Given the description of an element on the screen output the (x, y) to click on. 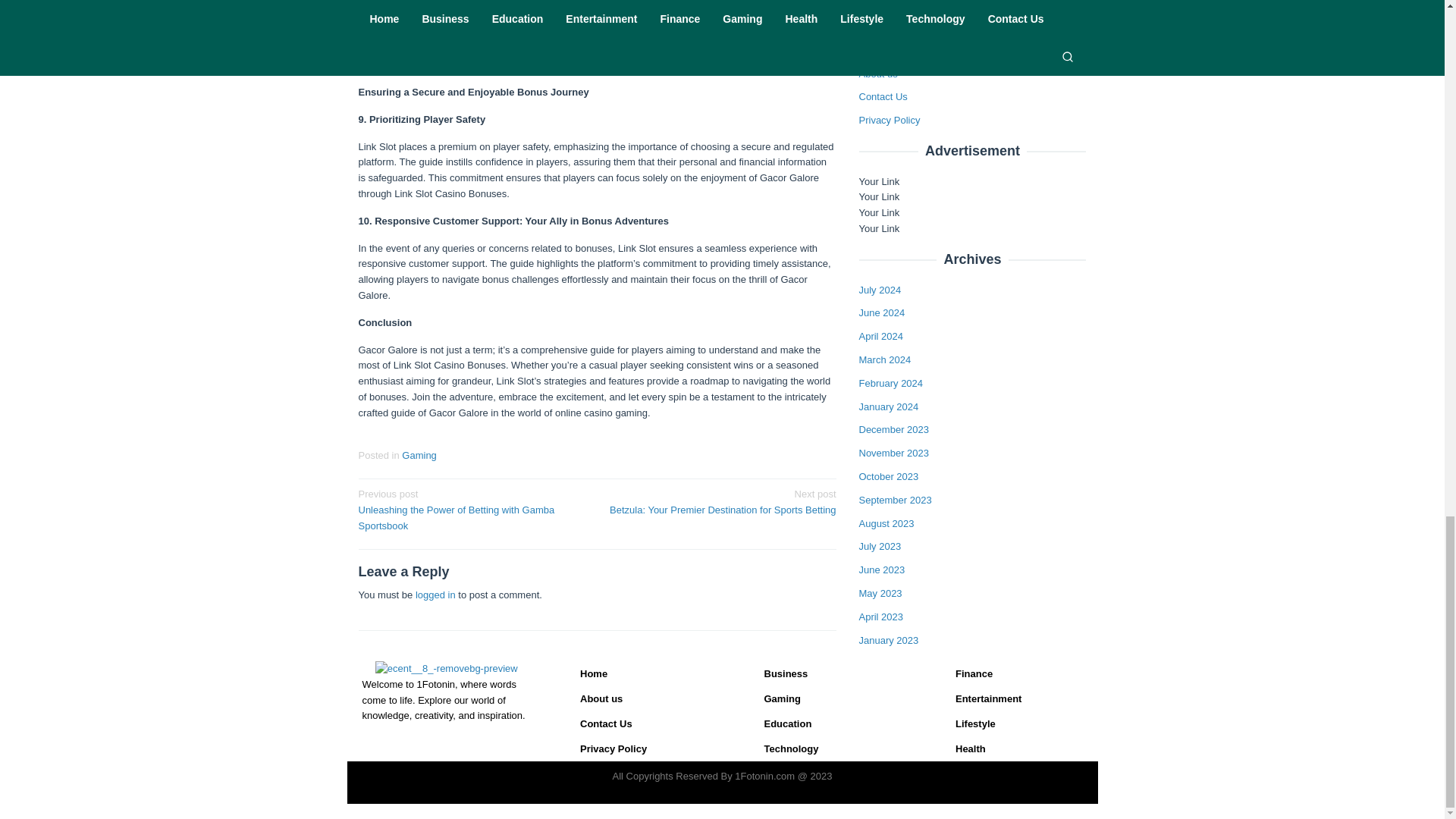
logged in (434, 594)
Gaming (418, 455)
